Given the description of an element on the screen output the (x, y) to click on. 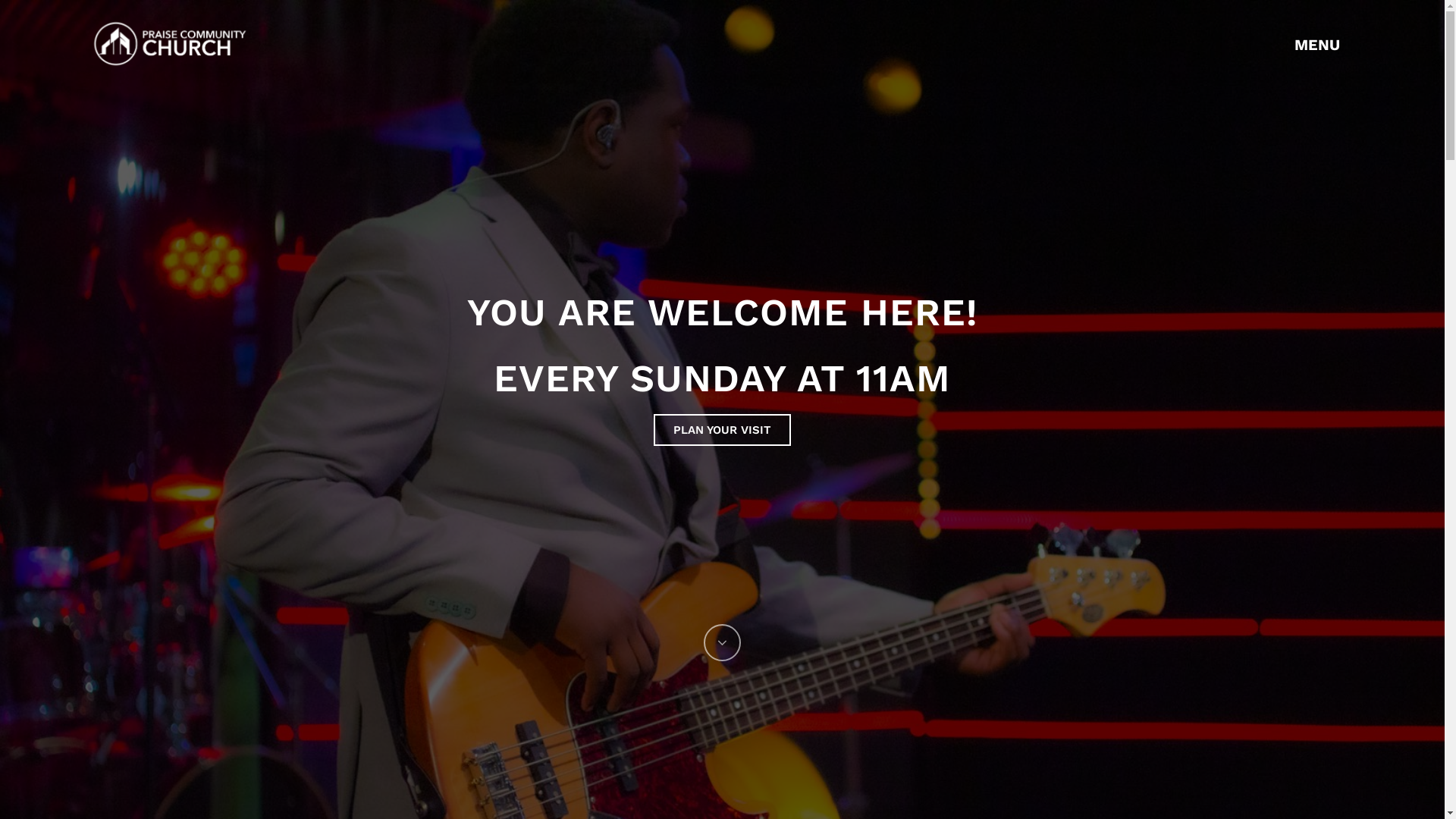
PLAN YOUR VISIT Element type: text (721, 429)
MENU Element type: text (1322, 44)
